Given the description of an element on the screen output the (x, y) to click on. 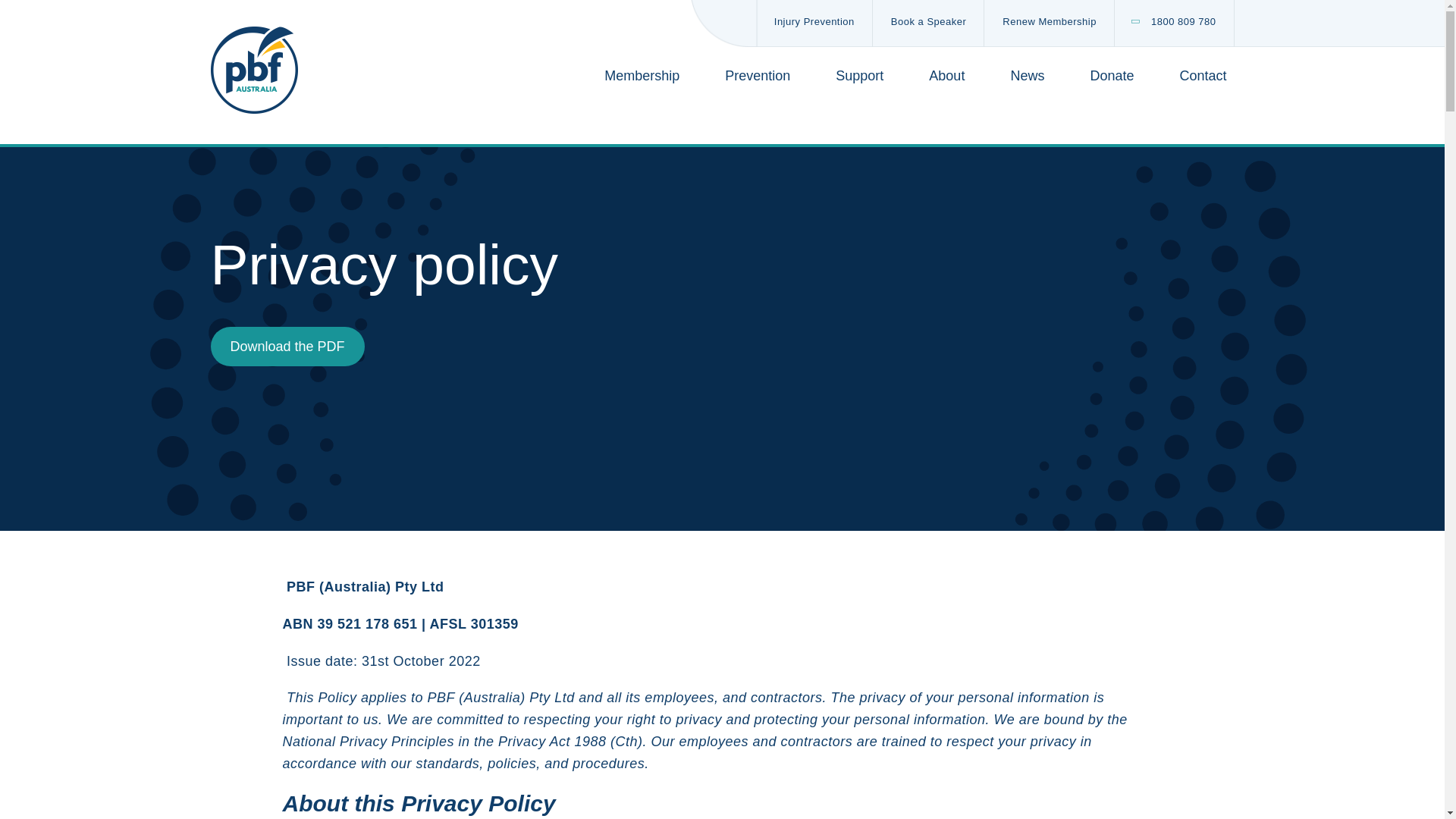
Book a Speaker (928, 22)
About (946, 75)
Support (859, 75)
1800 809 780 (1173, 22)
Prevention (757, 75)
Membership (641, 75)
Injury Prevention (814, 22)
Renew Membership (1049, 22)
